Given the description of an element on the screen output the (x, y) to click on. 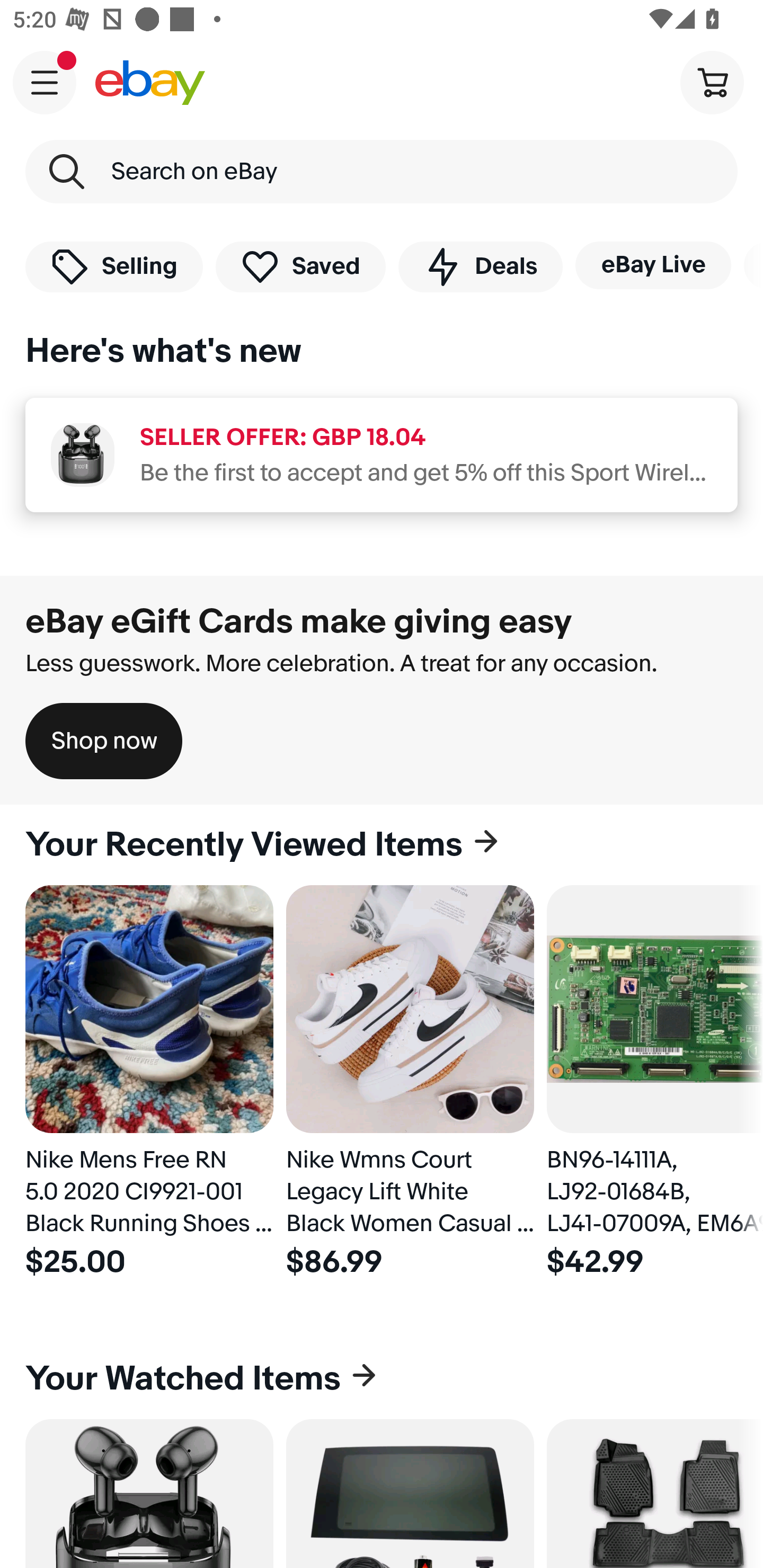
Main navigation, notification is pending, open (44, 82)
Cart button shopping cart (711, 81)
Search on eBay Search Keyword Search on eBay (381, 171)
Selling (113, 266)
Saved (300, 266)
Deals (480, 266)
eBay Live (652, 264)
eBay eGift Cards make giving easy (298, 621)
Shop now (103, 740)
Your Recently Viewed Items   (381, 844)
Your Watched Items   (381, 1379)
